Given the description of an element on the screen output the (x, y) to click on. 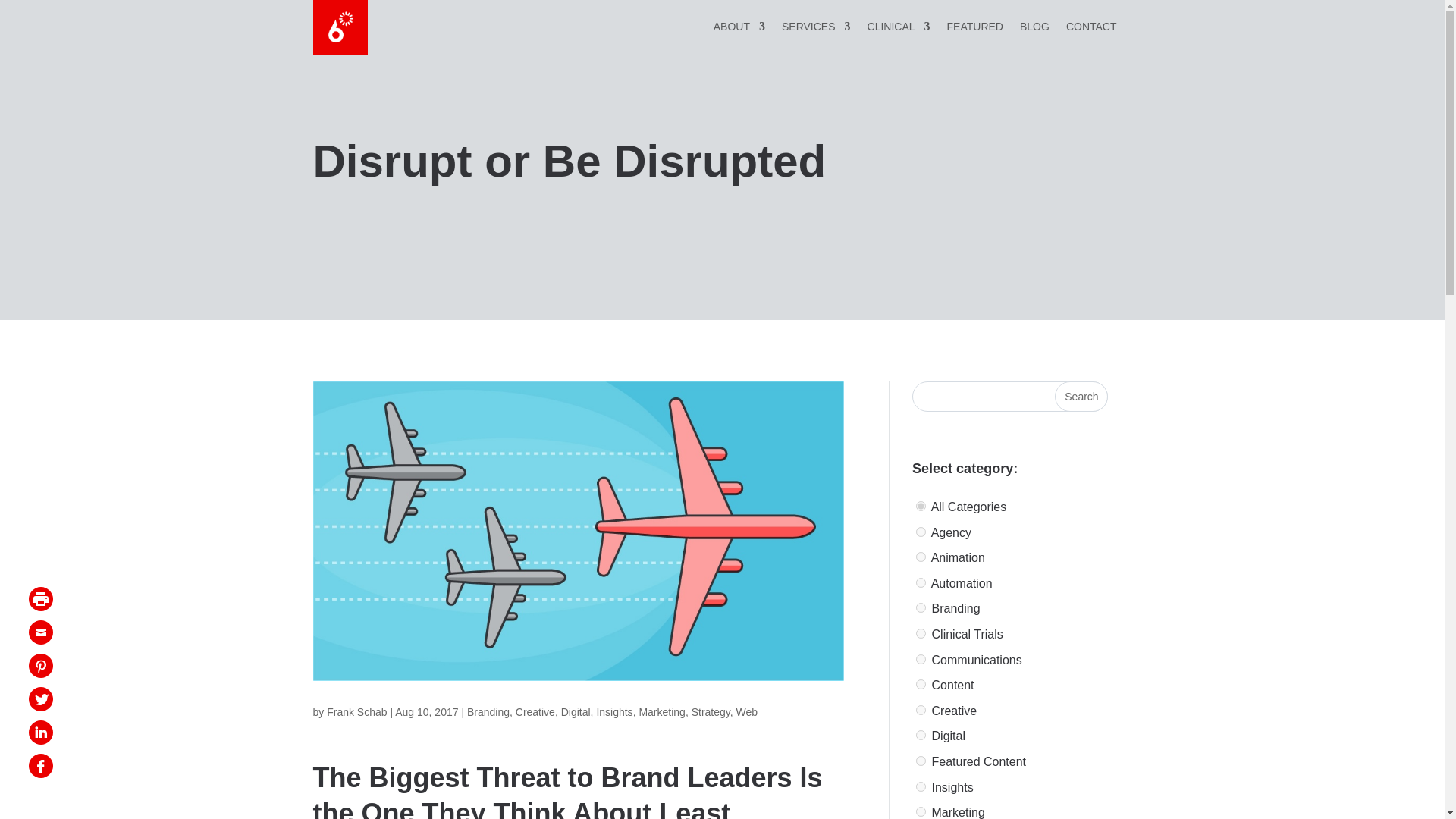
56 (920, 607)
Search (1081, 396)
Creative (534, 711)
Web (747, 711)
146 (920, 659)
ABOUT (739, 29)
Insights (613, 711)
55 (920, 532)
CLINICAL (898, 29)
BLOG (1034, 29)
SERVICES (815, 29)
114 (920, 735)
Marketing (661, 711)
110 (920, 786)
57 (920, 811)
